Given the description of an element on the screen output the (x, y) to click on. 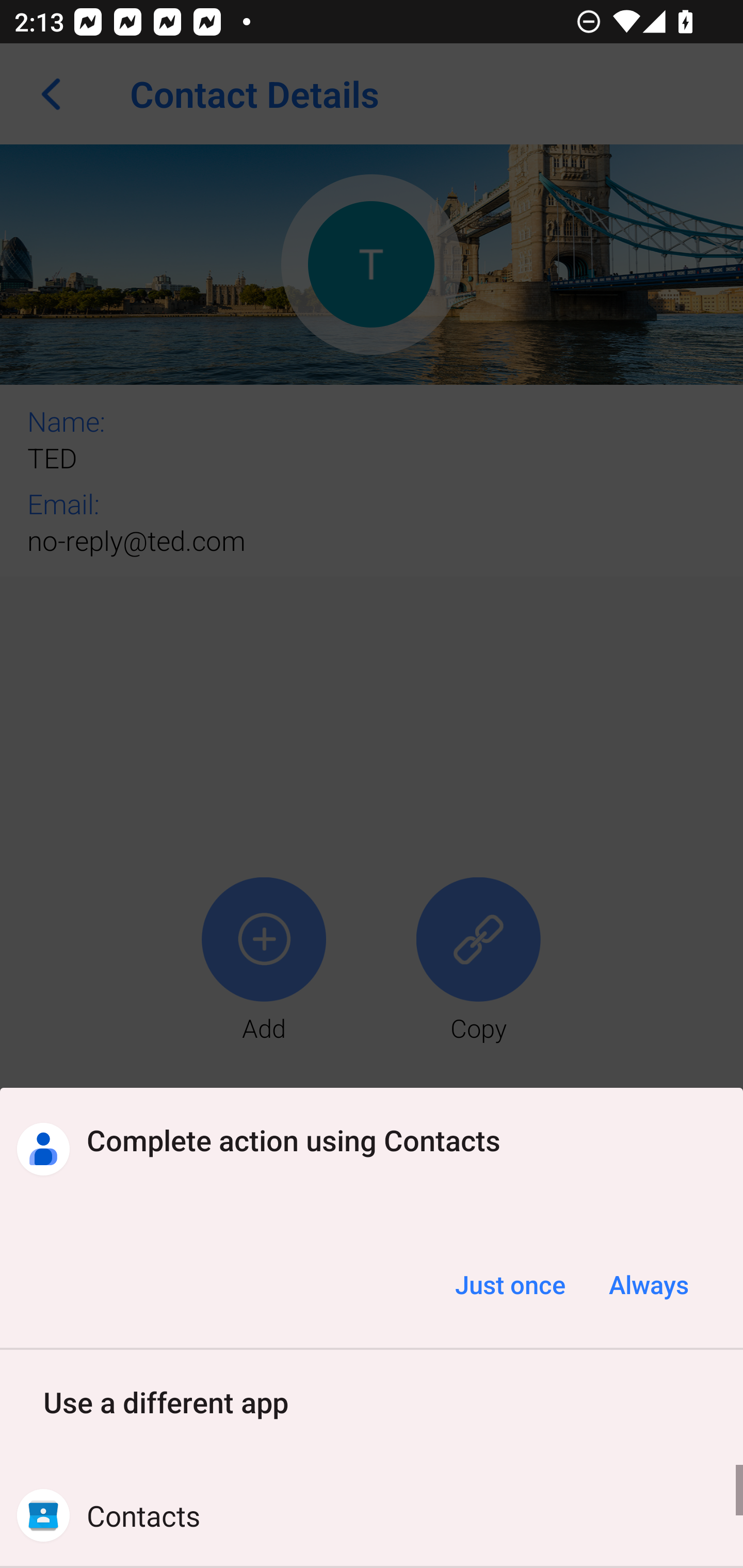
Just once (509, 1283)
Always (648, 1283)
Contacts (371, 1515)
